Given the description of an element on the screen output the (x, y) to click on. 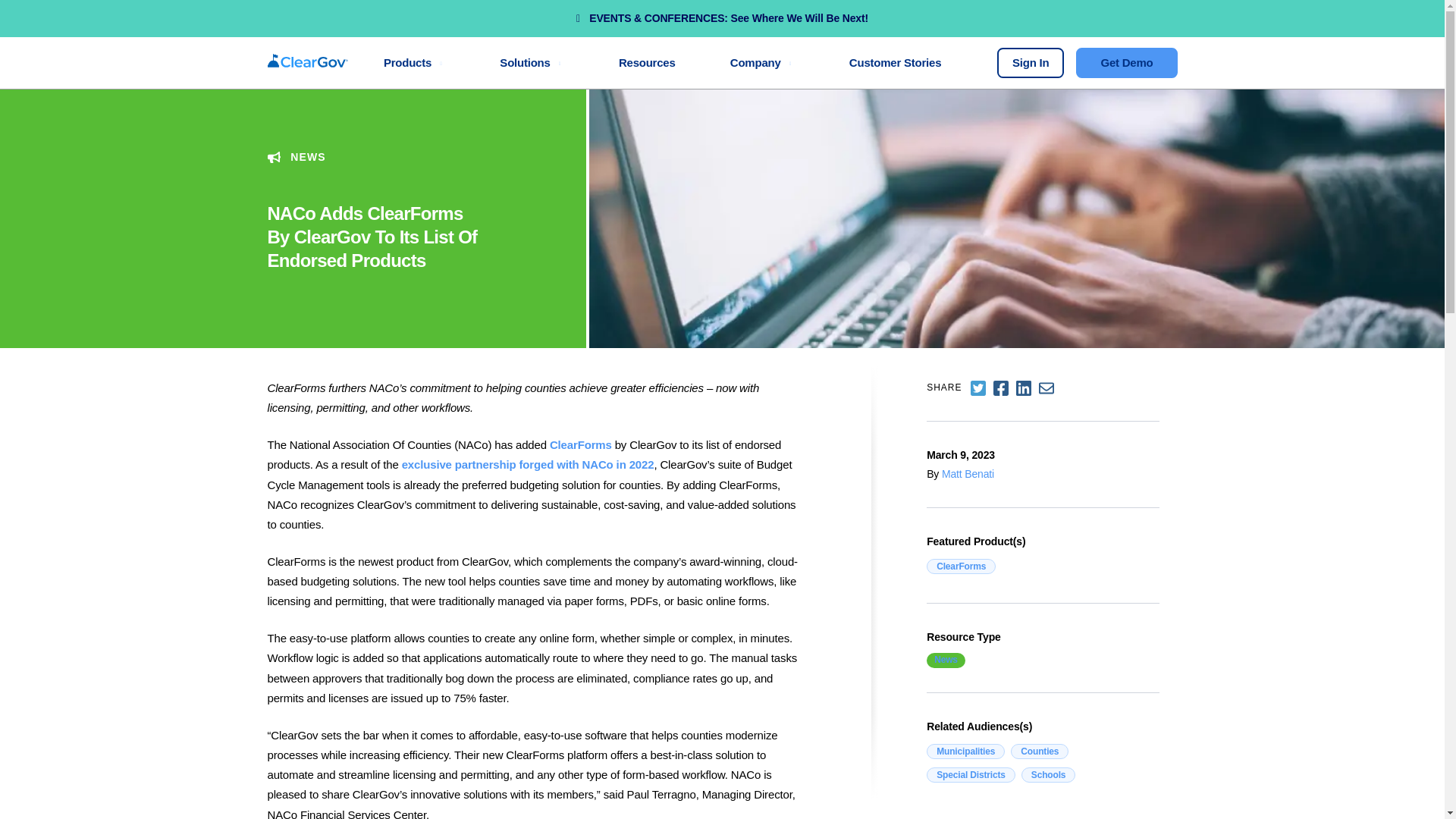
Customer Stories (894, 62)
Company (761, 62)
ClearForms (580, 444)
Solutions (531, 62)
Resources (647, 62)
Products (413, 62)
Get Demo (1125, 62)
Sign In (1030, 62)
exclusive partnership forged with NACo in 2022 (527, 463)
